Given the description of an element on the screen output the (x, y) to click on. 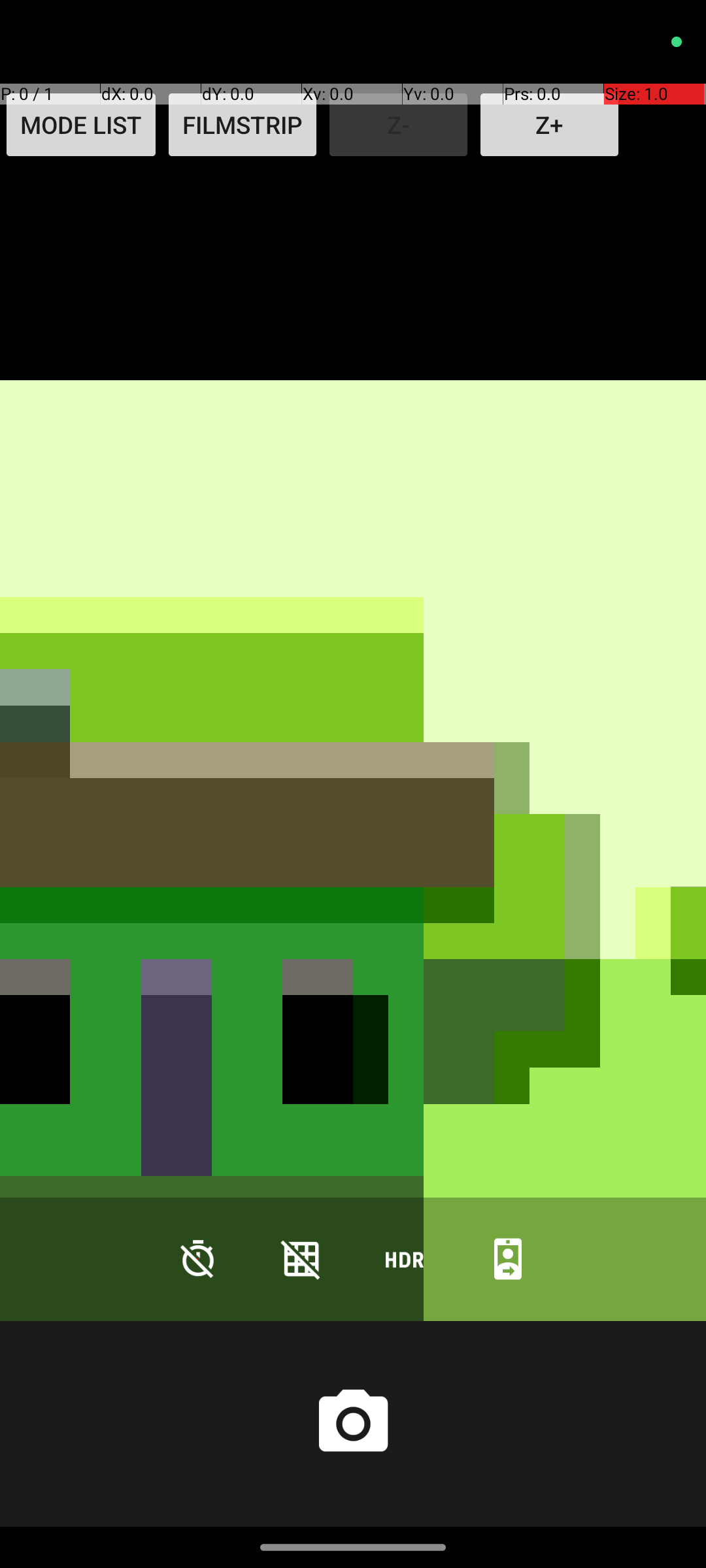
HDR on Element type: android.widget.ImageButton (404, 1258)
